Given the description of an element on the screen output the (x, y) to click on. 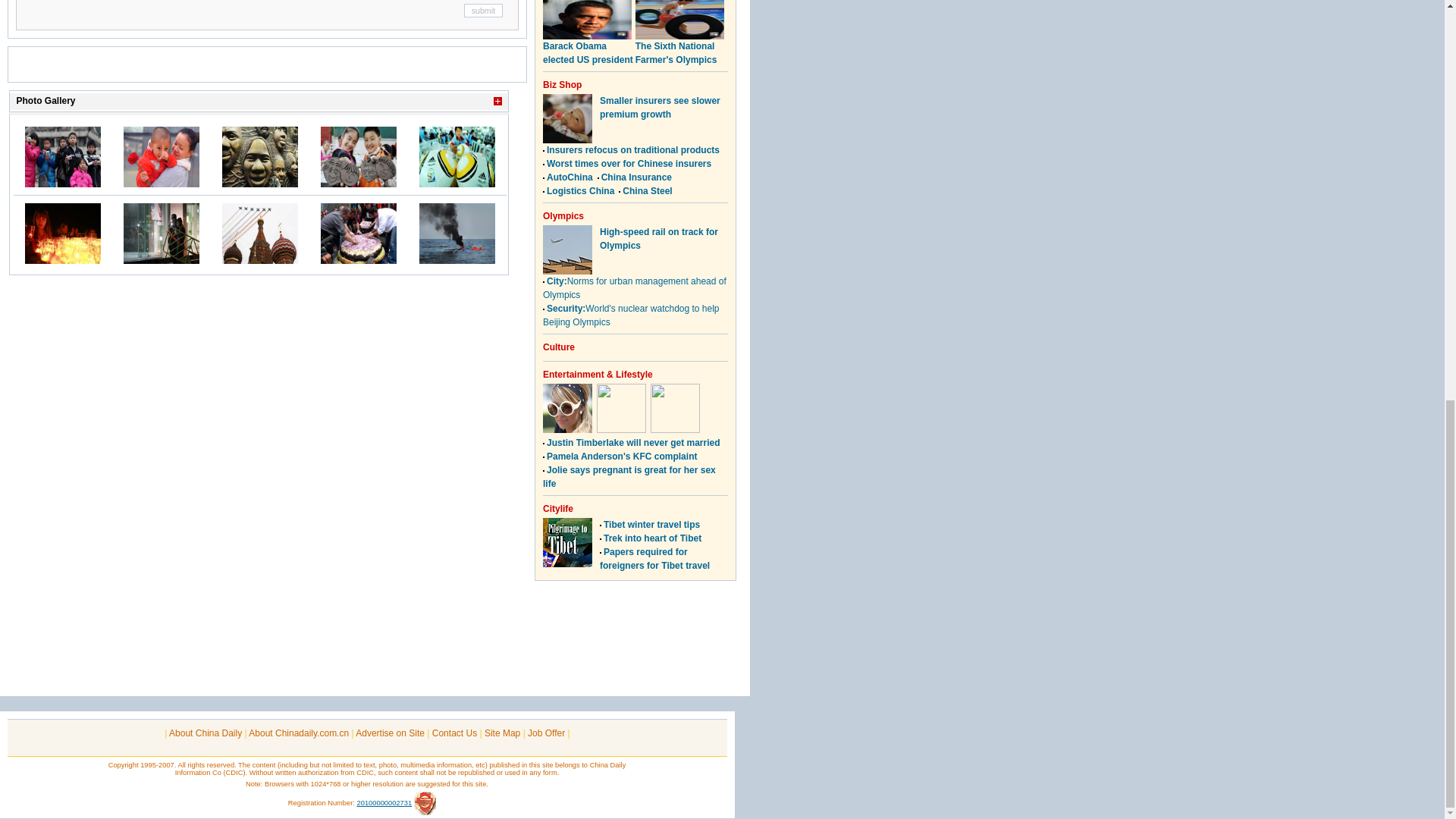
 submit  (483, 10)
 submit  (483, 10)
About China Daily (204, 733)
